Given the description of an element on the screen output the (x, y) to click on. 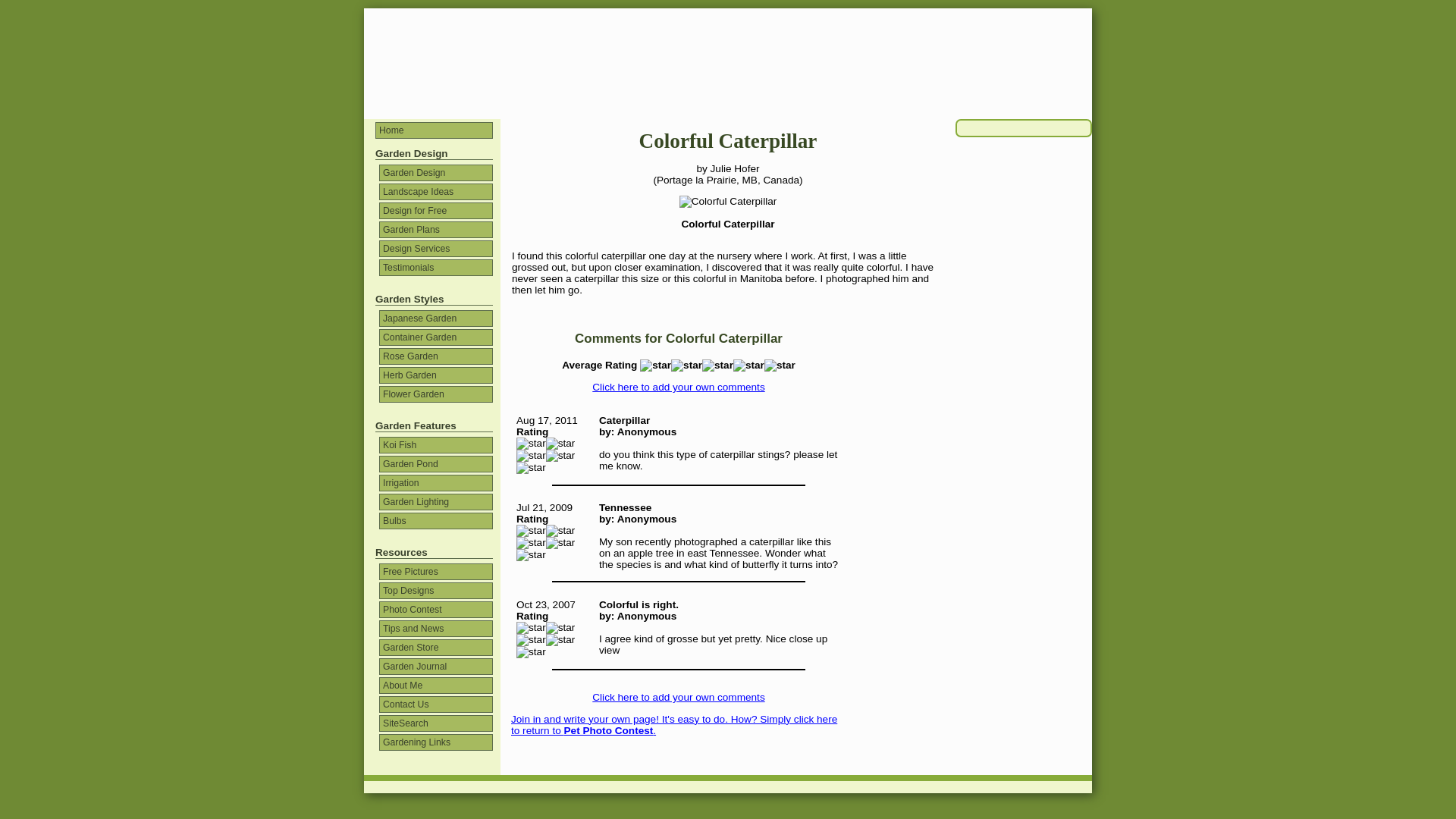
Garden Design (435, 172)
Photo Contest (435, 609)
Click here to add your own comments (678, 387)
Top Designs (435, 590)
Gardening Links (435, 742)
Bulbs (435, 520)
SiteSearch (435, 723)
Garden Journal (435, 666)
Garden Pond (435, 463)
About Me (435, 685)
Testimonials (435, 267)
Garden Store (435, 647)
Home (434, 130)
Container Garden (435, 337)
